Given the description of an element on the screen output the (x, y) to click on. 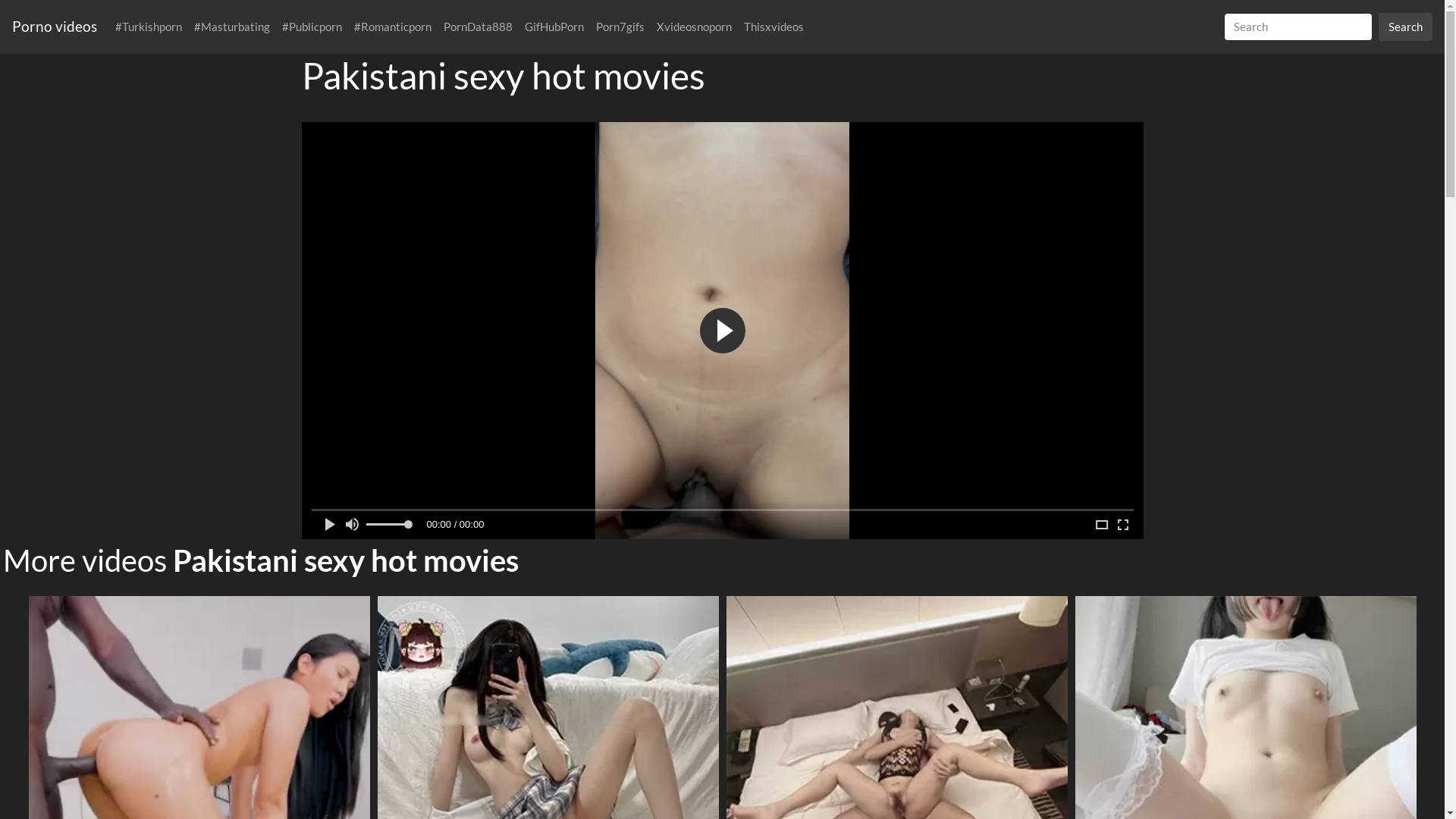
GifHubPorn Element type: text (553, 26)
Porno videos Element type: text (60, 26)
#Turkishporn Element type: text (148, 26)
#Romanticporn Element type: text (392, 26)
Thisxvideos Element type: text (773, 26)
PornData888 Element type: text (477, 26)
#Publicporn Element type: text (312, 26)
Porn7gifs Element type: text (619, 26)
Search Element type: text (1405, 26)
#Masturbating Element type: text (232, 26)
Xvideosnoporn Element type: text (693, 26)
